Given the description of an element on the screen output the (x, y) to click on. 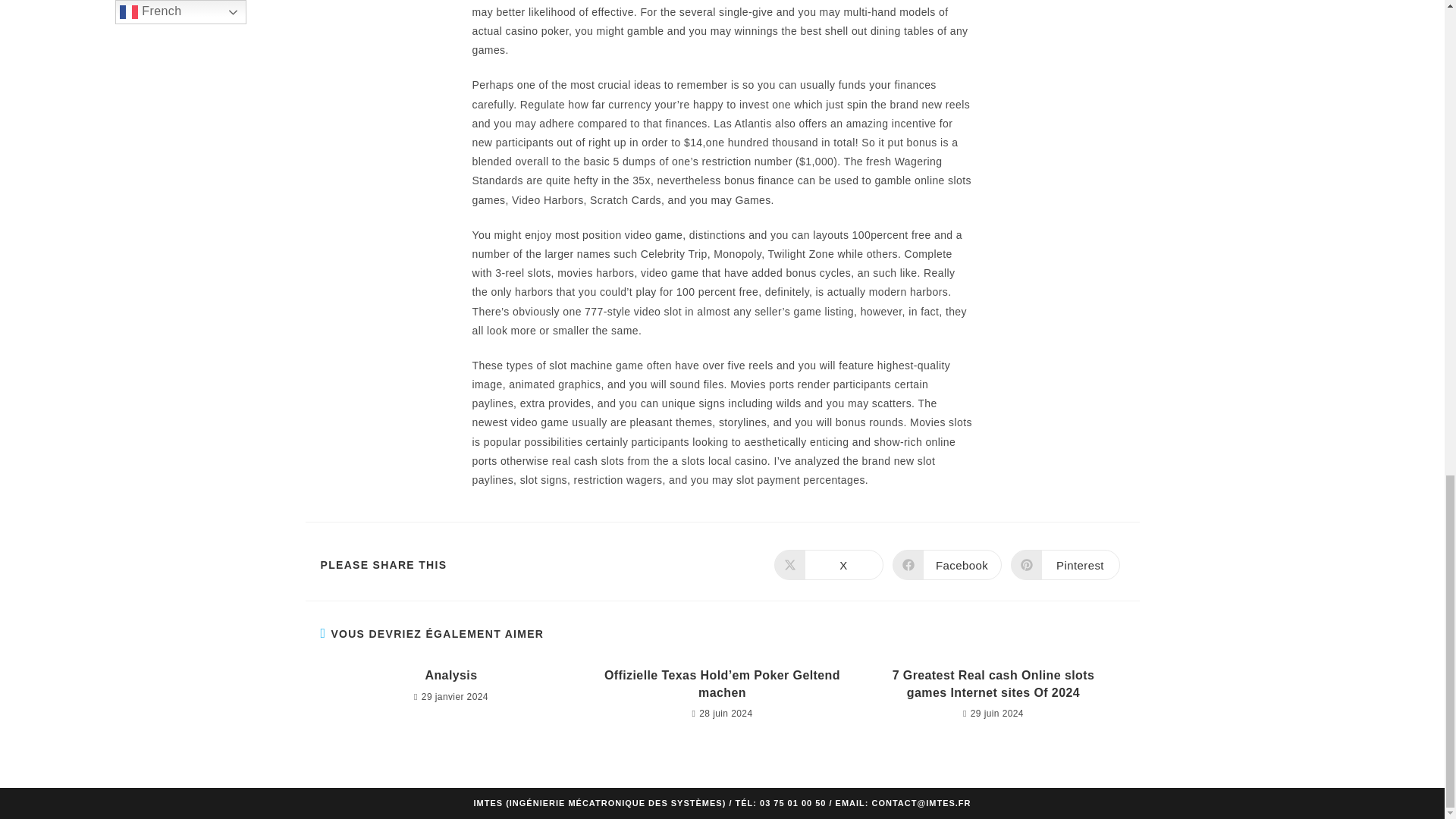
Analysis (450, 675)
Analysis (450, 675)
